Given the description of an element on the screen output the (x, y) to click on. 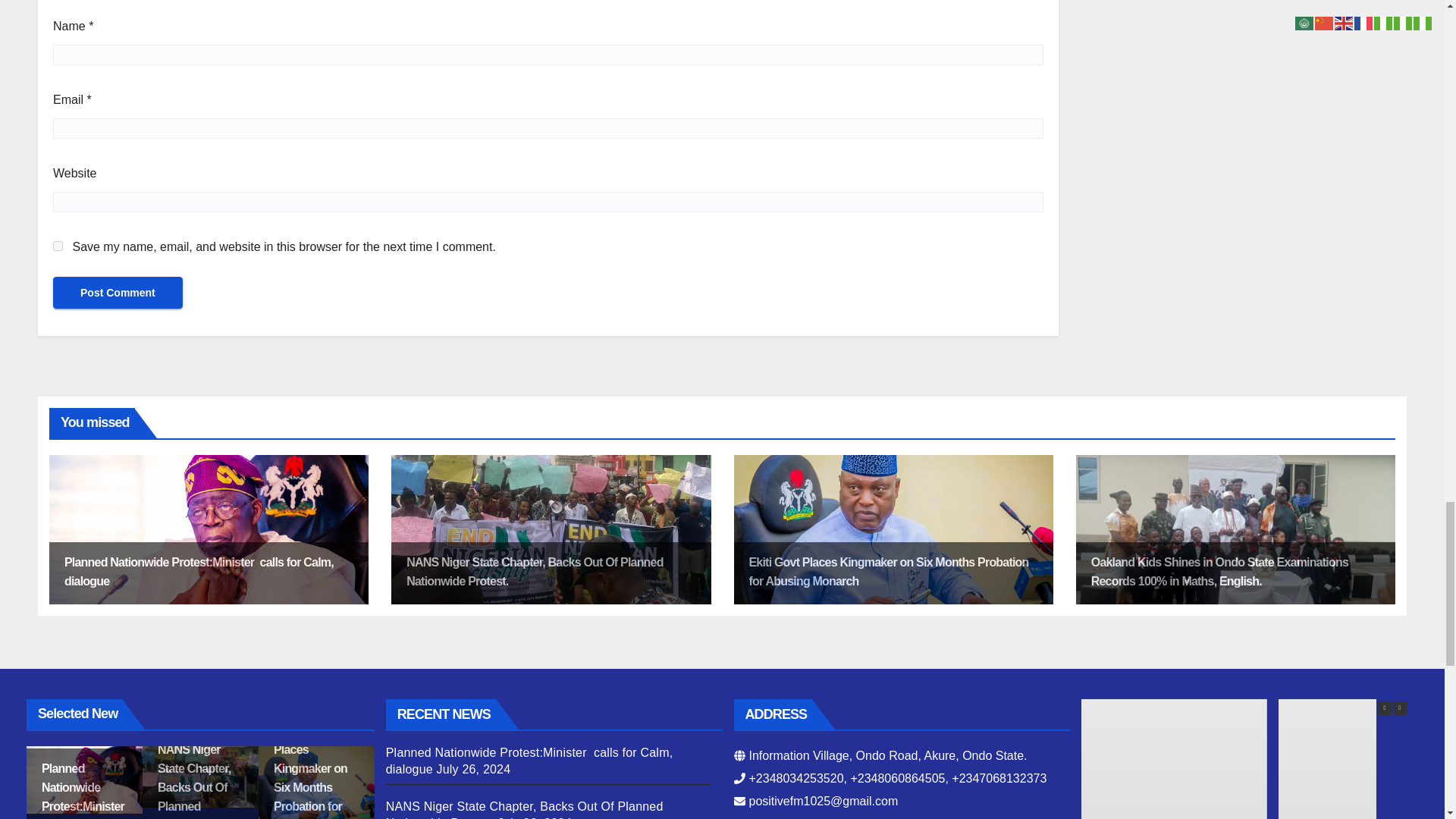
yes (57, 245)
Post Comment (117, 292)
